Given the description of an element on the screen output the (x, y) to click on. 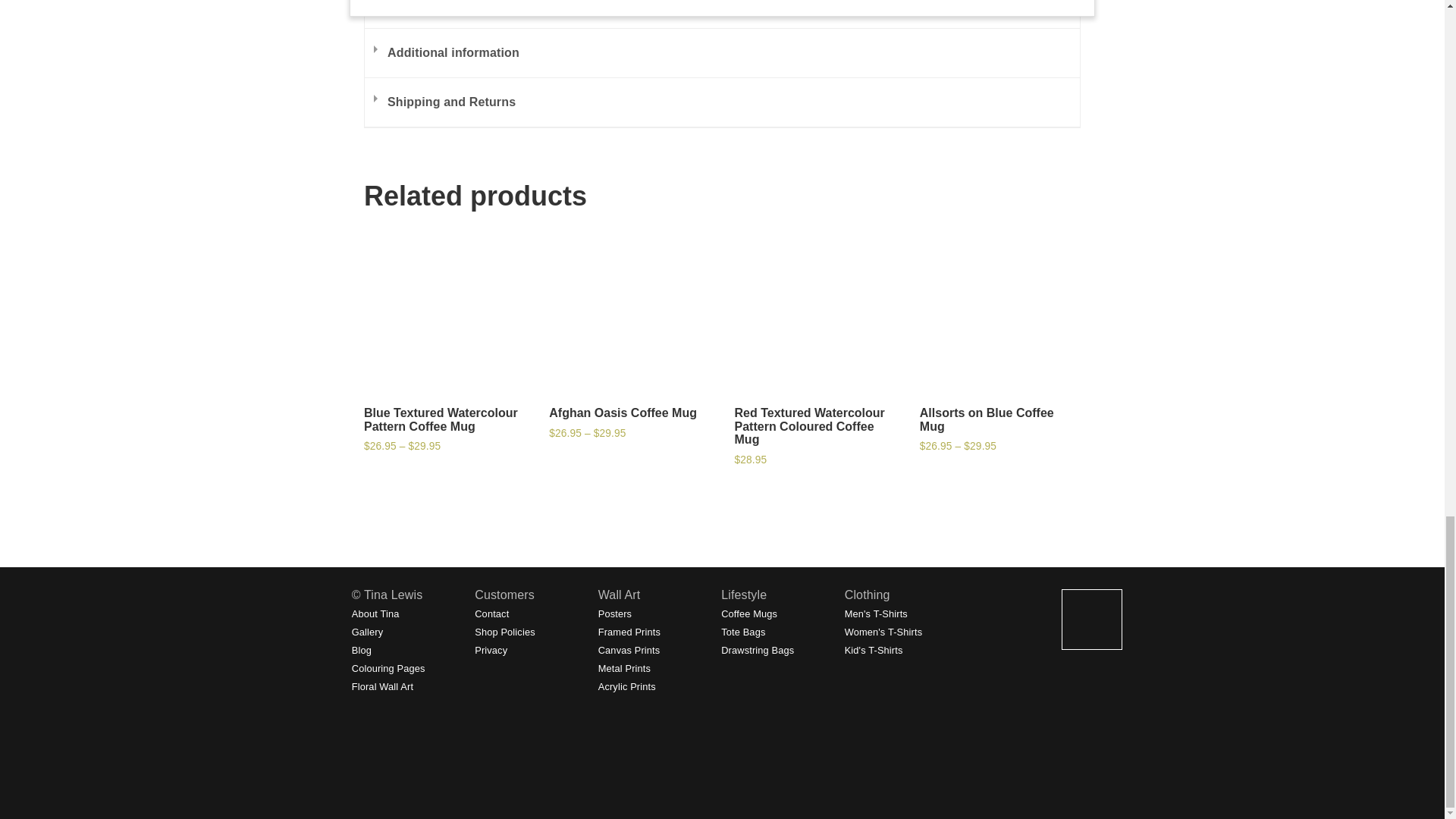
About Tina (375, 613)
Floral Wall Art (382, 686)
Blog (361, 650)
Colouring Pages (388, 668)
Gallery (368, 632)
